Given the description of an element on the screen output the (x, y) to click on. 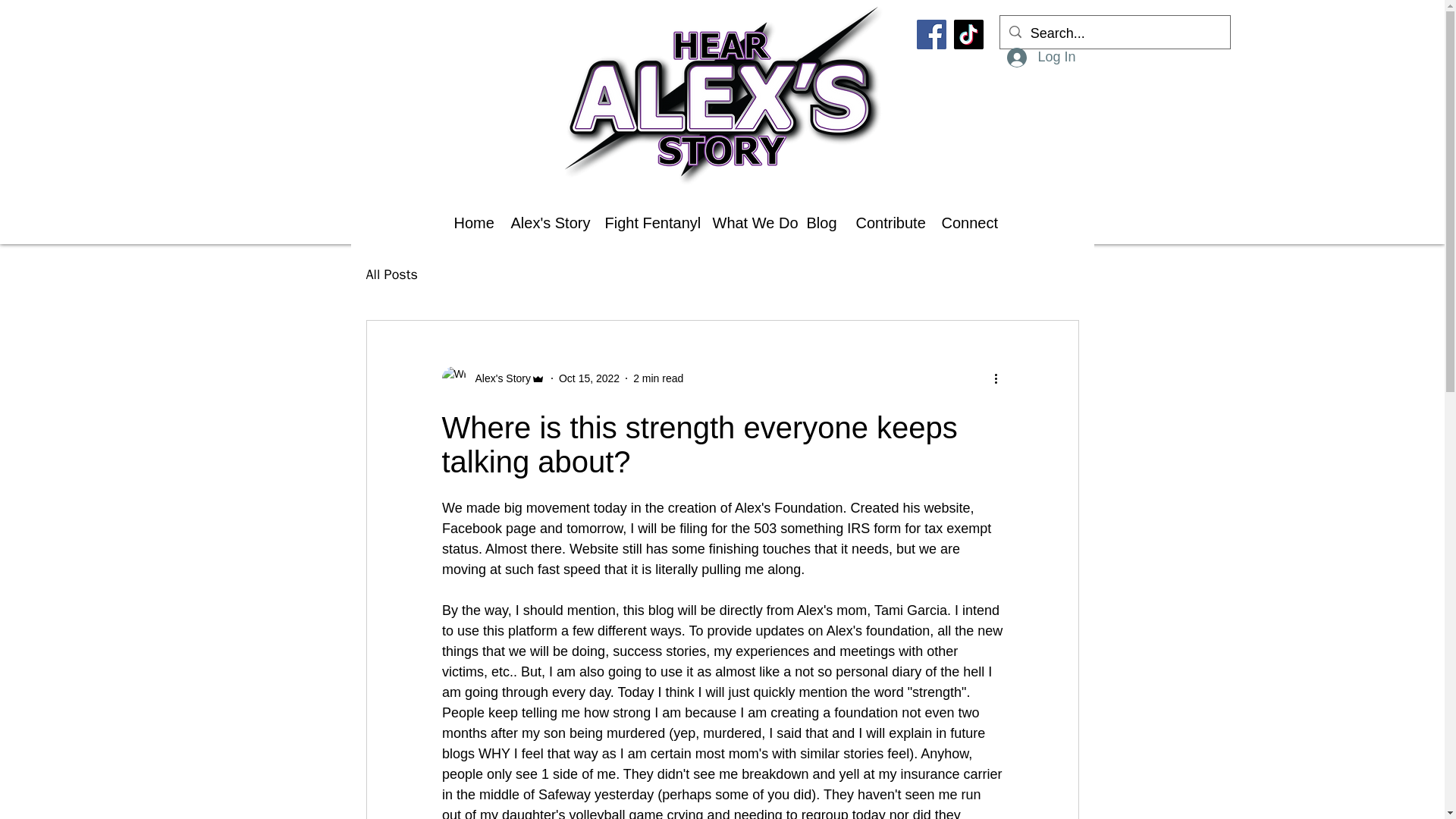
Oct 15, 2022 (589, 377)
Contribute (887, 223)
Home (470, 223)
Log In (1040, 57)
Alex's Story (492, 378)
Alex's Story (545, 223)
Blog (819, 223)
What We Do (747, 223)
All Posts (390, 274)
Alex's Story (497, 377)
